Given the description of an element on the screen output the (x, y) to click on. 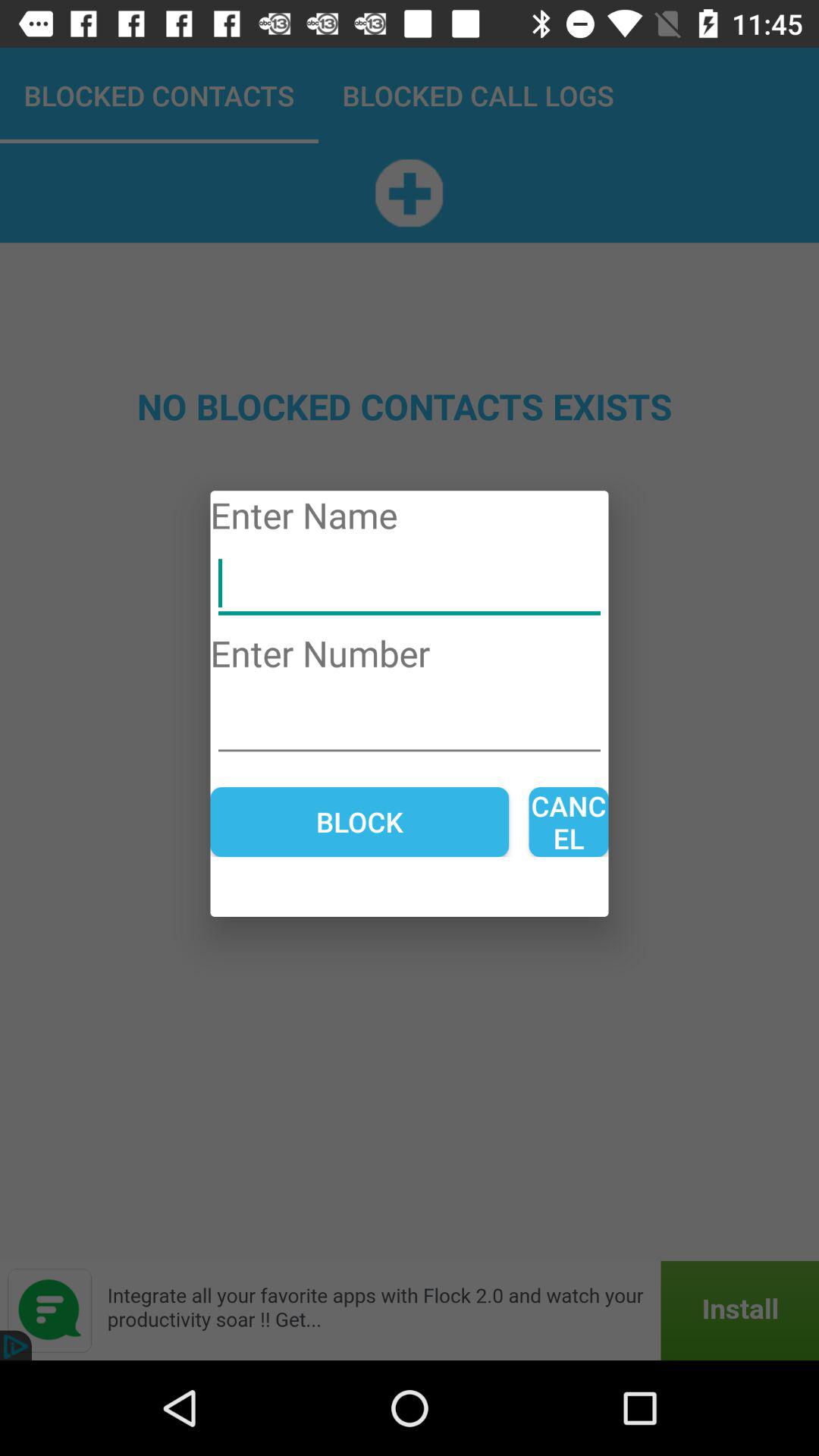
tap block (359, 822)
